Given the description of an element on the screen output the (x, y) to click on. 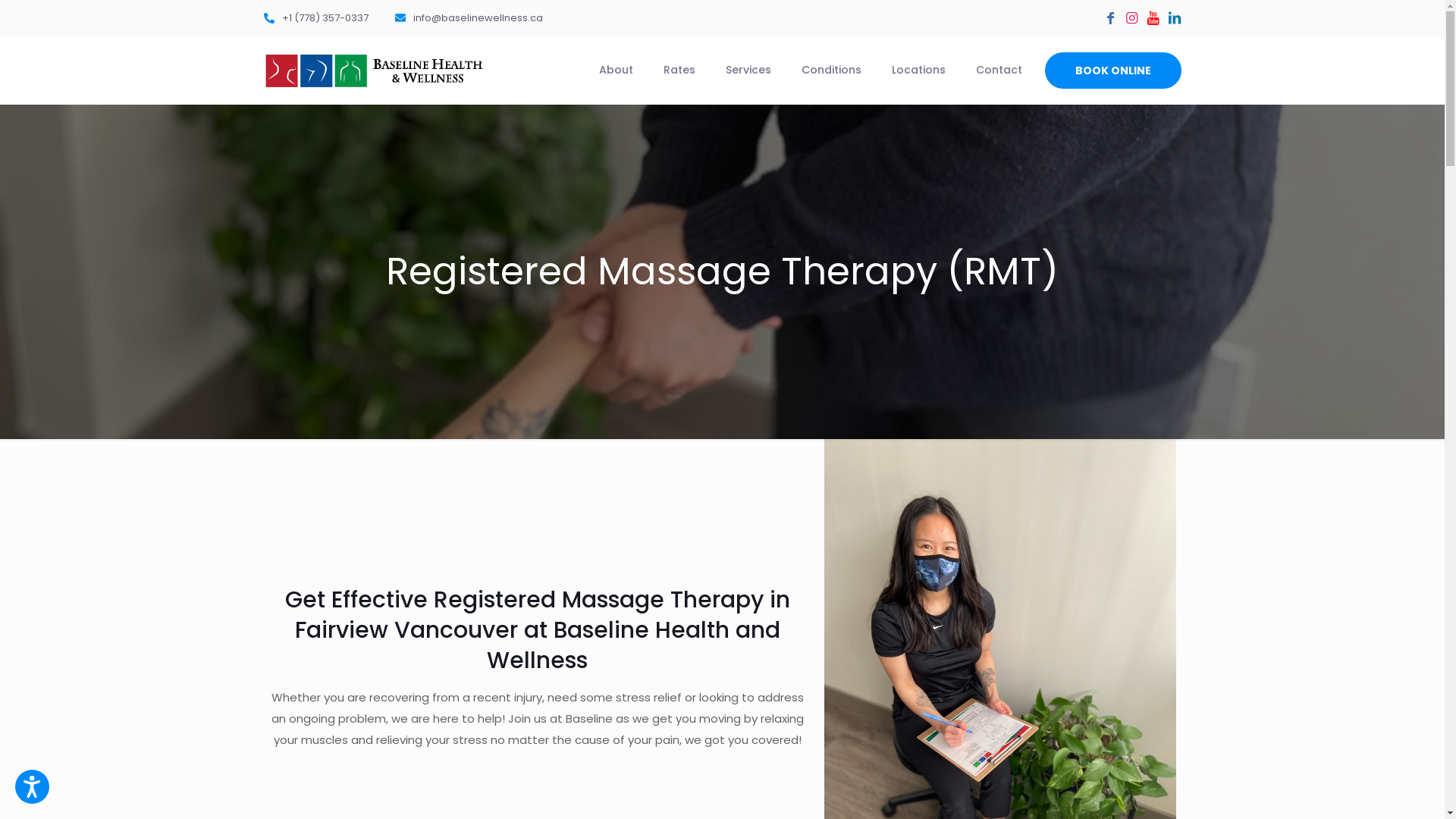
Contact Element type: text (998, 70)
Conditions Element type: text (830, 70)
About Element type: text (615, 70)
BOOK ONLINE Element type: text (1112, 70)
+1 (778) 357-0337 Element type: text (315, 17)
info@baselinewellness.ca Element type: text (468, 17)
Locations Element type: text (918, 70)
Rates Element type: text (678, 70)
Services Element type: text (747, 70)
